Given the description of an element on the screen output the (x, y) to click on. 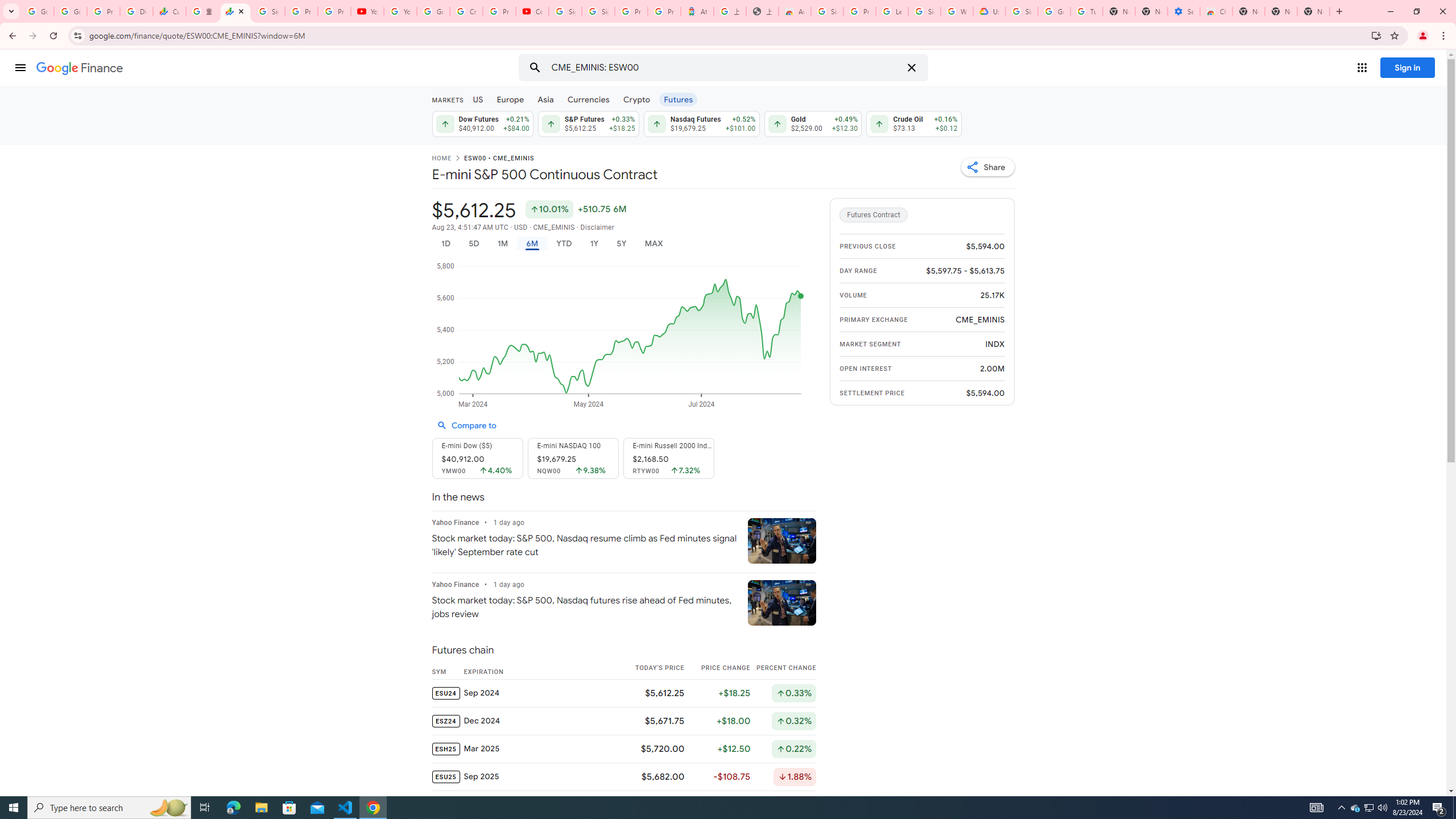
Sign in - Google Accounts (827, 11)
Futures (678, 99)
Nasdaq Futures $19,679.25 Up by 0.52% +$101.00 (701, 123)
Sign in - Google Accounts (598, 11)
New Tab (1313, 11)
YTD (563, 243)
Dow Futures $40,912.00 Up by 0.21% +$84.00 (481, 123)
